Given the description of an element on the screen output the (x, y) to click on. 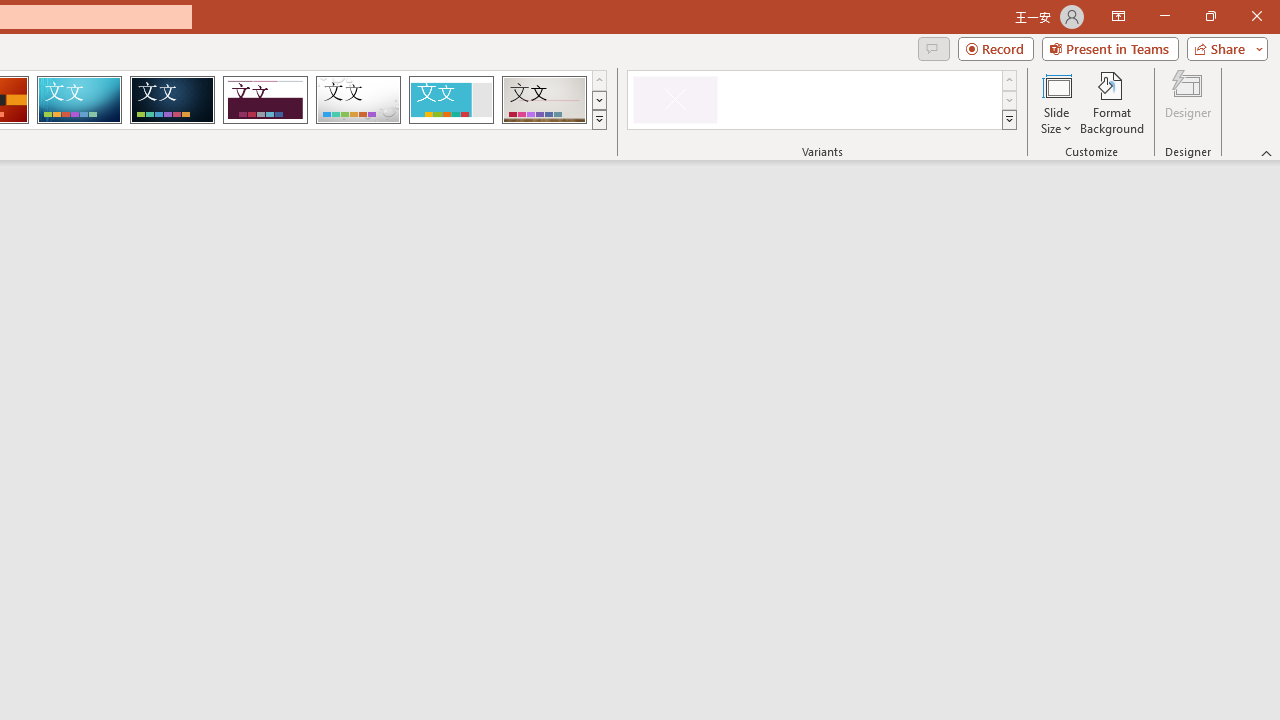
Gallery Loading Preview... (544, 100)
Droplet Loading Preview... (358, 100)
Variants (1009, 120)
Damask Loading Preview... (171, 100)
Circuit Loading Preview... (79, 100)
AutomationID: ThemeVariantsGallery (822, 99)
